Given the description of an element on the screen output the (x, y) to click on. 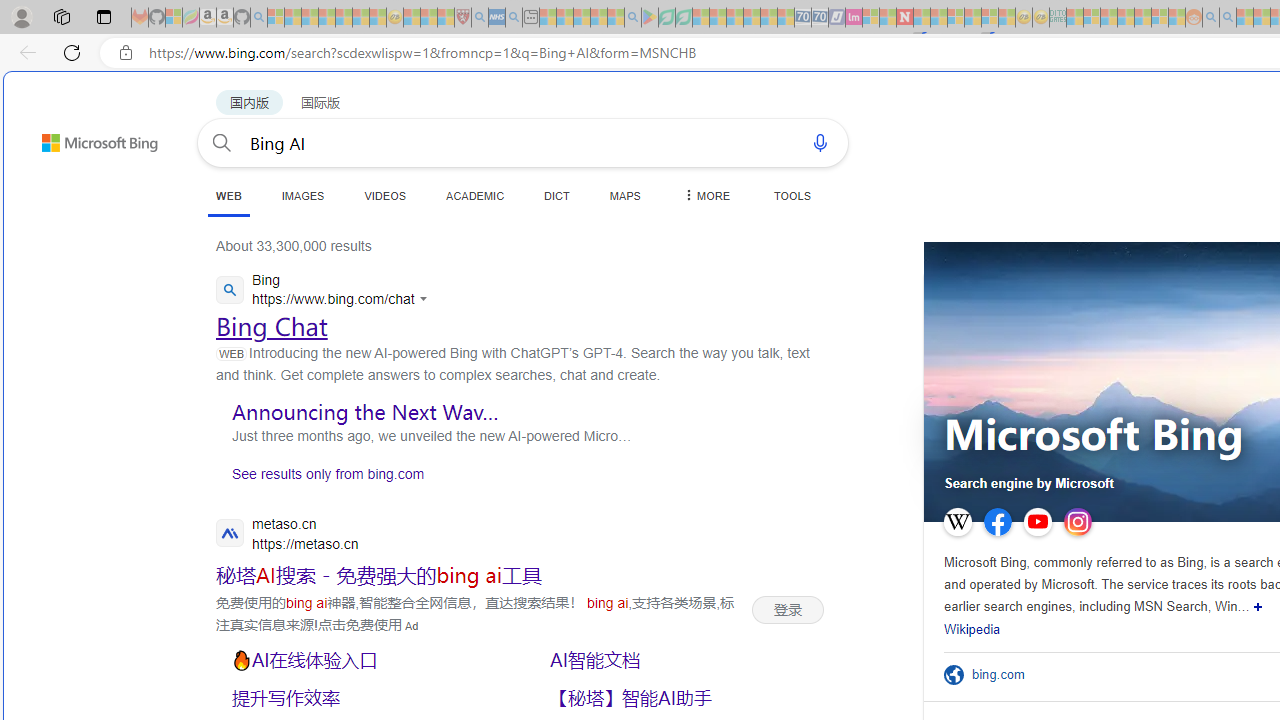
Cheap Hotels - Save70.com - Sleeping (819, 17)
YouTube (1038, 521)
Show more (1258, 606)
TOOLS (792, 195)
Skip to content (63, 133)
MSNBC - MSN - Sleeping (1074, 17)
14 Common Myths Debunked By Scientific Facts - Sleeping (938, 17)
